Given the description of an element on the screen output the (x, y) to click on. 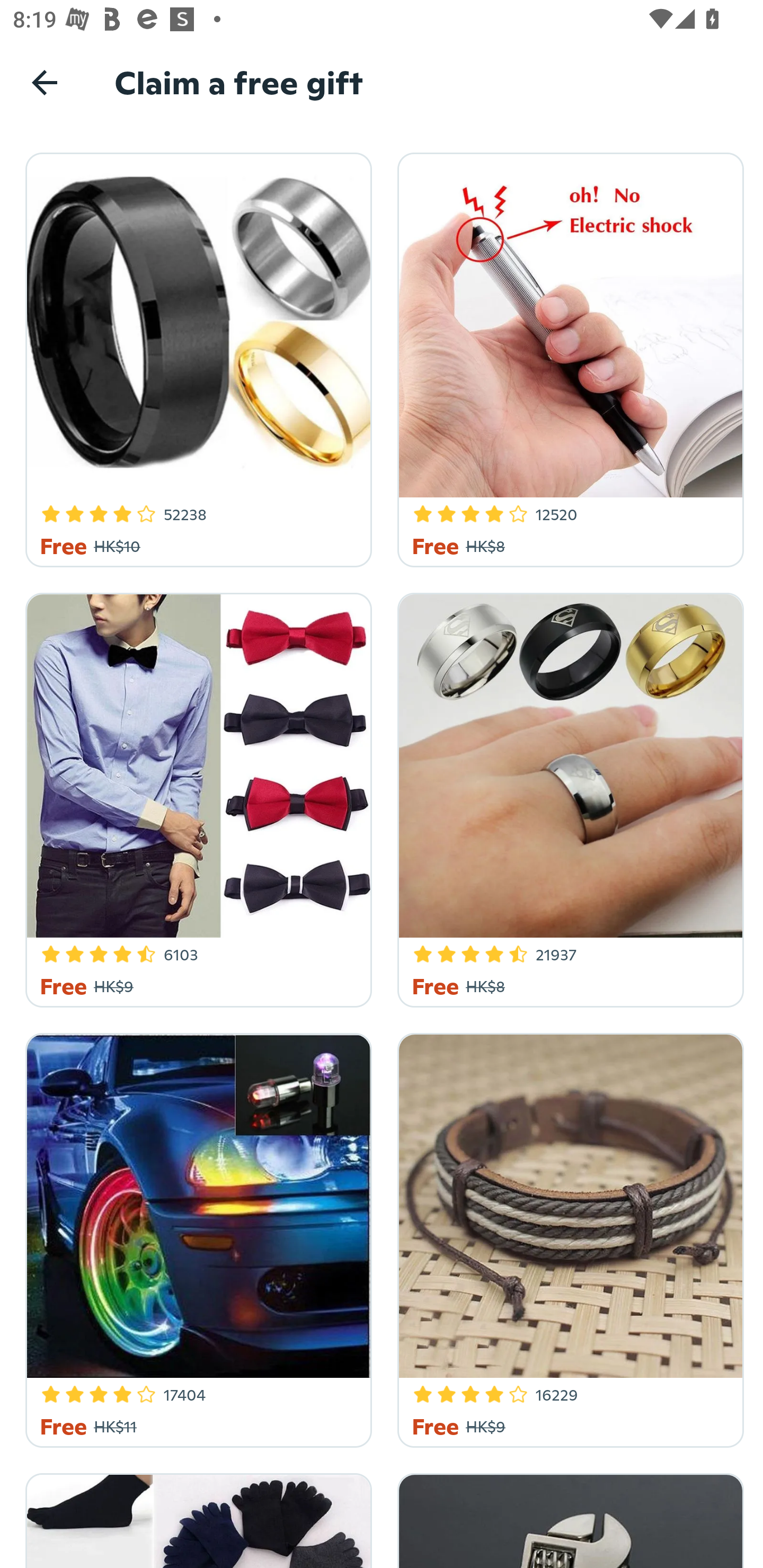
Navigate up (44, 82)
4.2 Star Rating 52238 Free HK$10 (195, 356)
3.9 Star Rating 12520 Free HK$8 (566, 356)
4.4 Star Rating 6103 Free HK$9 (195, 797)
4.3 Star Rating 21937 Free HK$8 (566, 797)
3.8 Star Rating 17404 Free HK$11 (195, 1237)
3.8 Star Rating 16229 Free HK$9 (566, 1237)
